Given the description of an element on the screen output the (x, y) to click on. 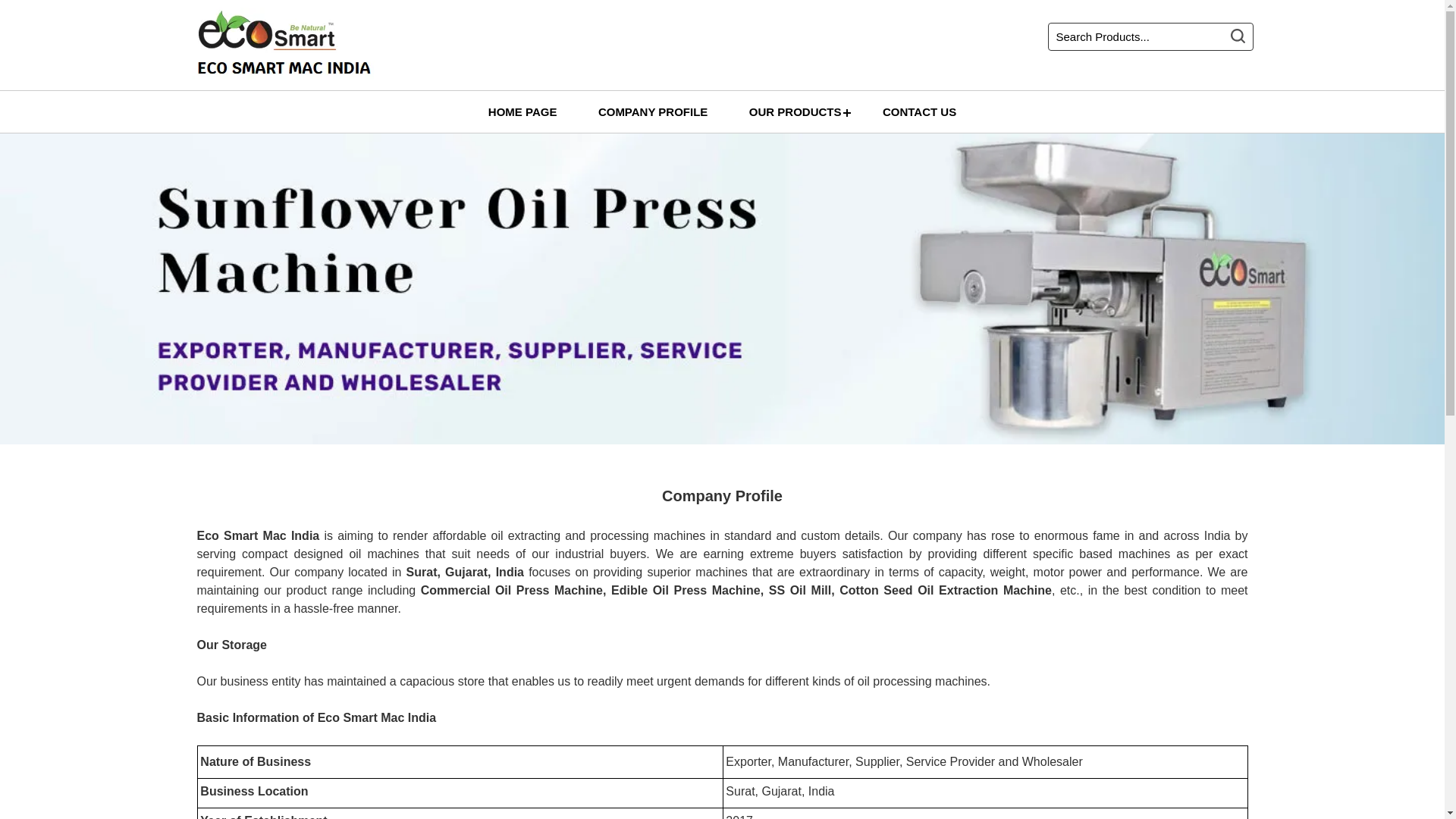
CONTACT US (919, 111)
HOME PAGE (522, 111)
Eco Smart Mac India (282, 43)
Search (1241, 33)
Search Products... (1139, 36)
OUR PRODUCTS (795, 111)
submit (1241, 33)
COMPANY PROFILE (652, 111)
